Given the description of an element on the screen output the (x, y) to click on. 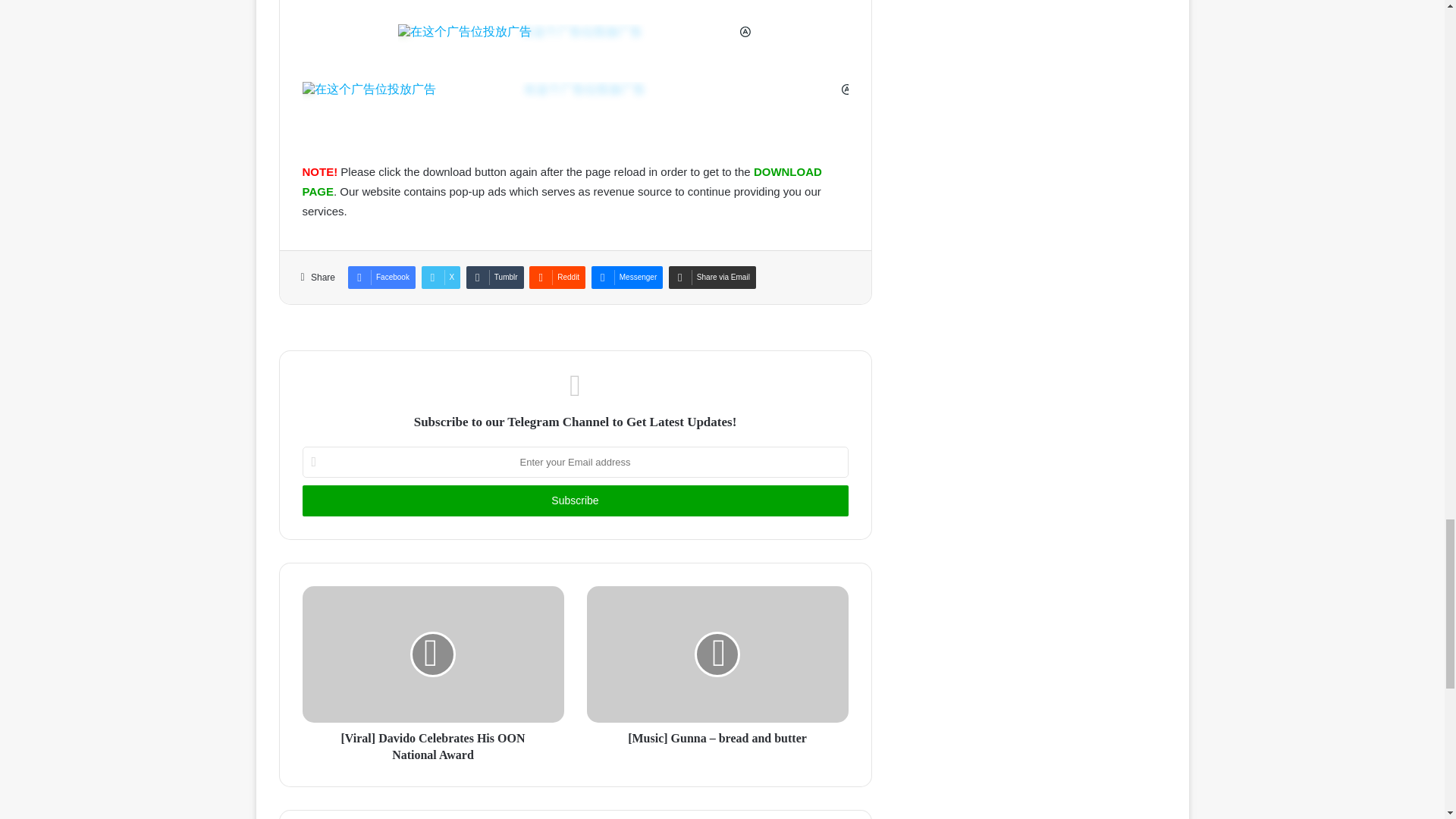
Subscribe (574, 500)
